Given the description of an element on the screen output the (x, y) to click on. 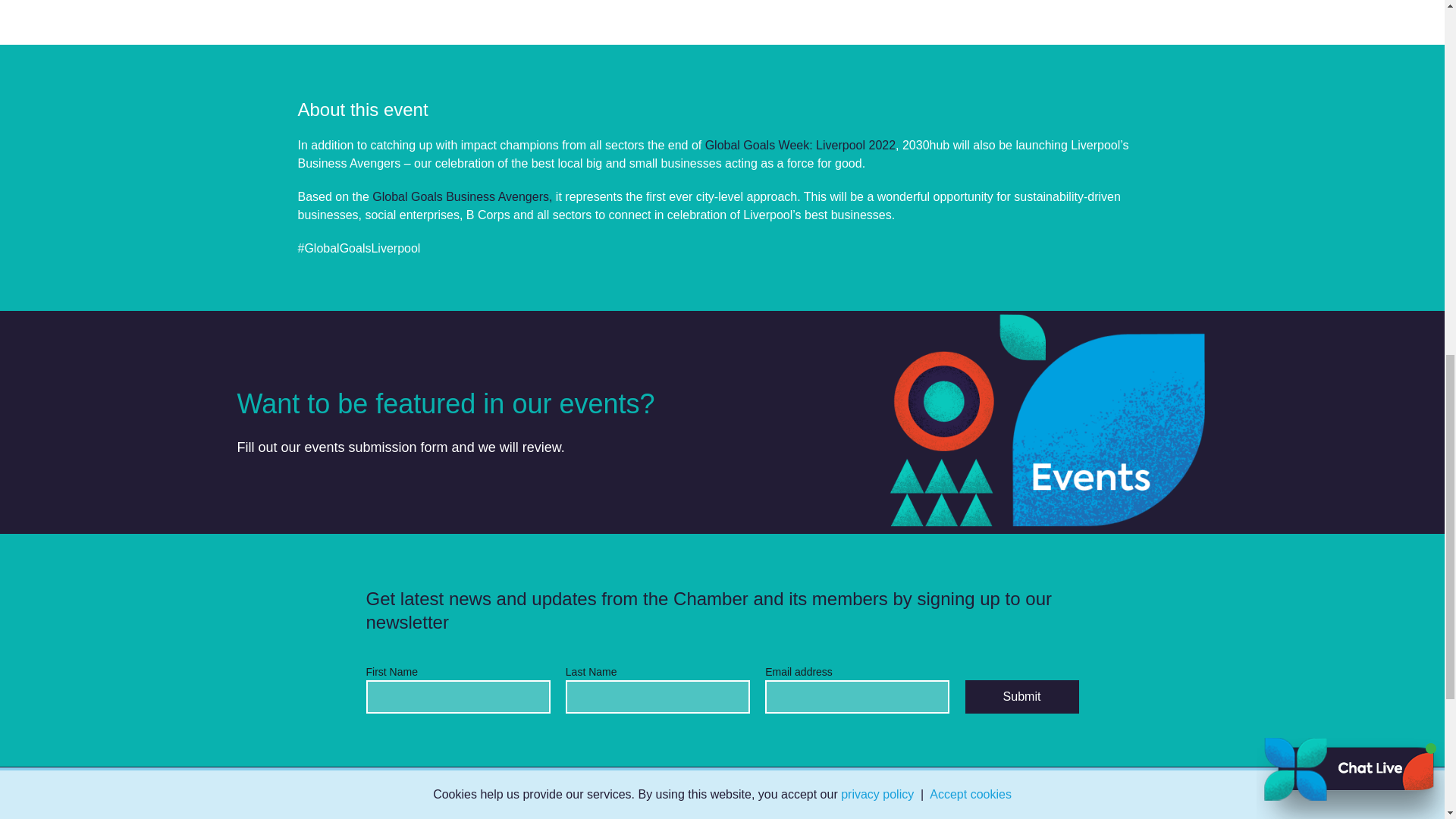
Submit (1020, 696)
